Given the description of an element on the screen output the (x, y) to click on. 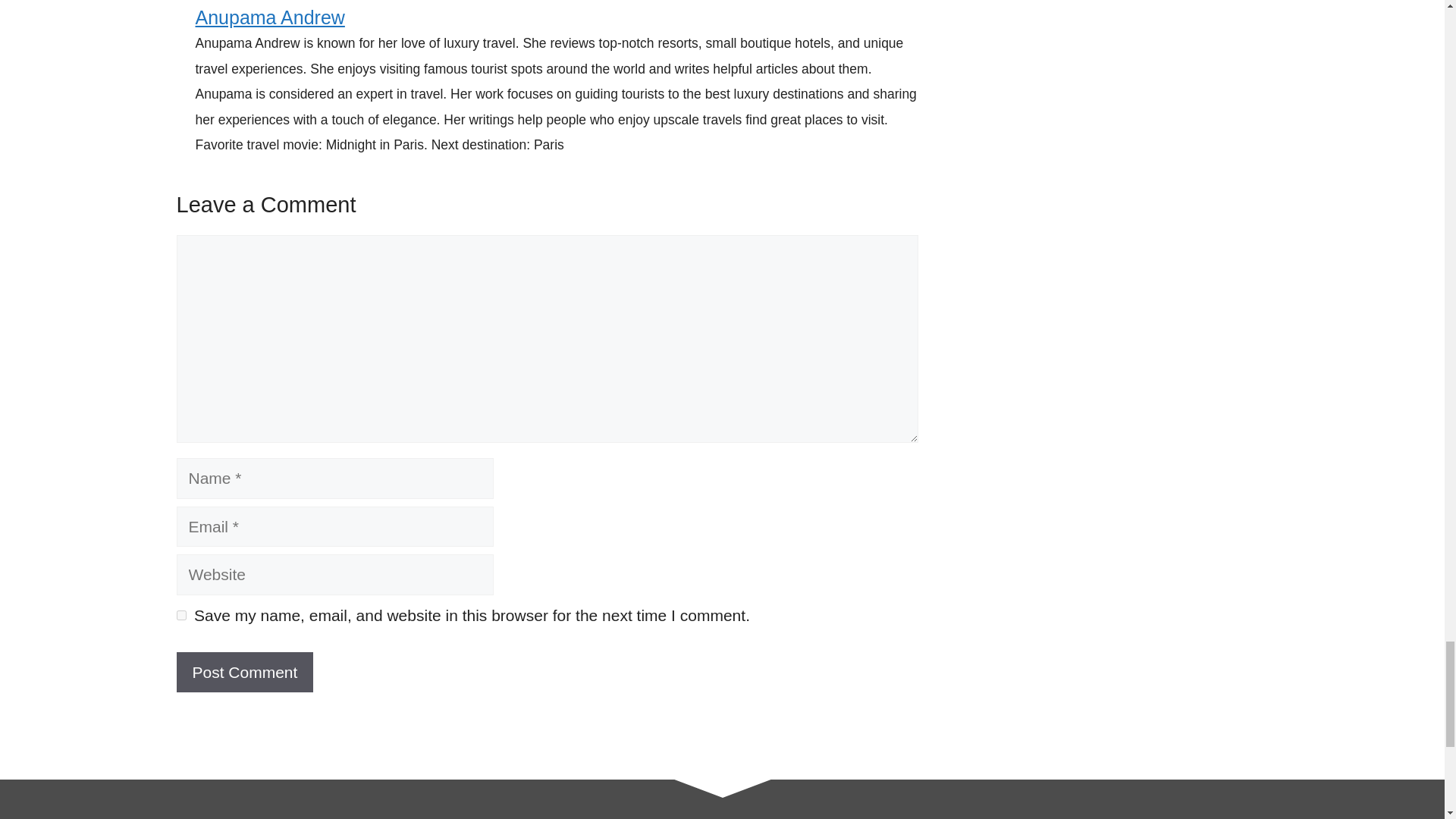
yes (181, 614)
Post Comment (244, 671)
